Given the description of an element on the screen output the (x, y) to click on. 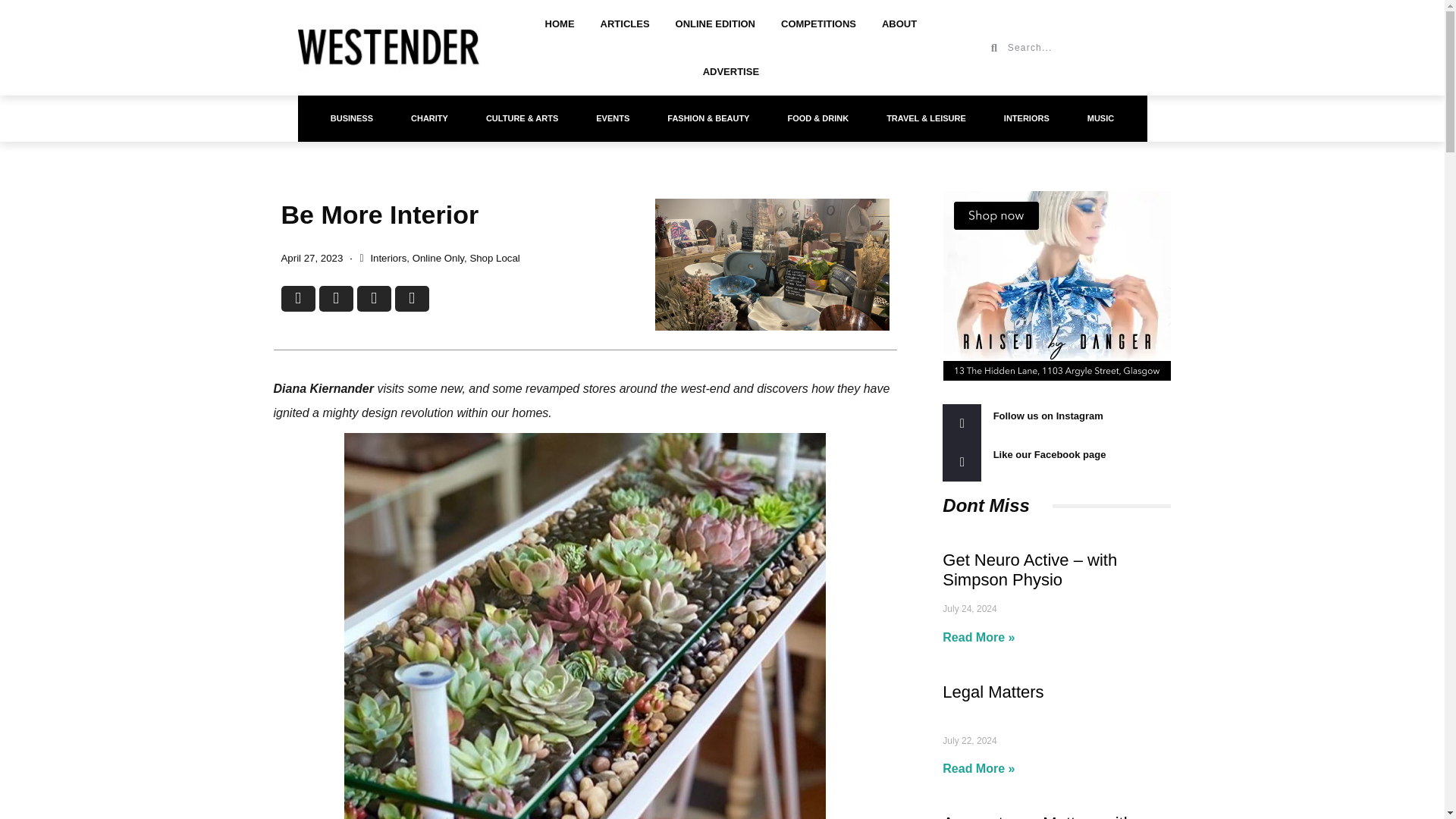
BUSINESS (351, 118)
ARTICLES (625, 23)
ABOUT (899, 23)
MUSIC (1100, 118)
HOME (560, 23)
COMPETITIONS (818, 23)
ONLINE EDITION (715, 23)
westender-logo-1 (388, 47)
CHARITY (429, 118)
EVENTS (611, 118)
